Given the description of an element on the screen output the (x, y) to click on. 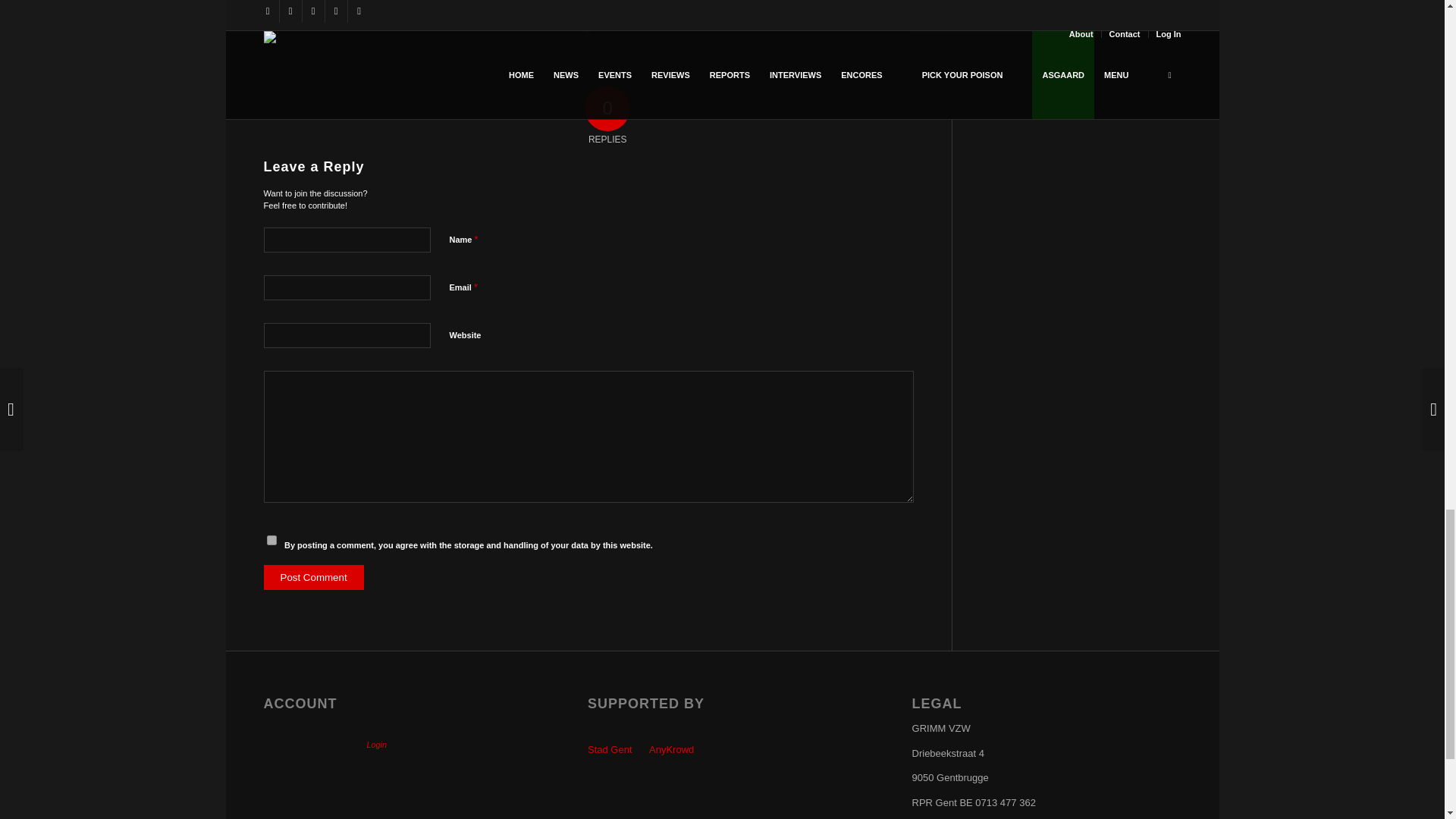
yes (271, 540)
Post Comment (313, 577)
